Given the description of an element on the screen output the (x, y) to click on. 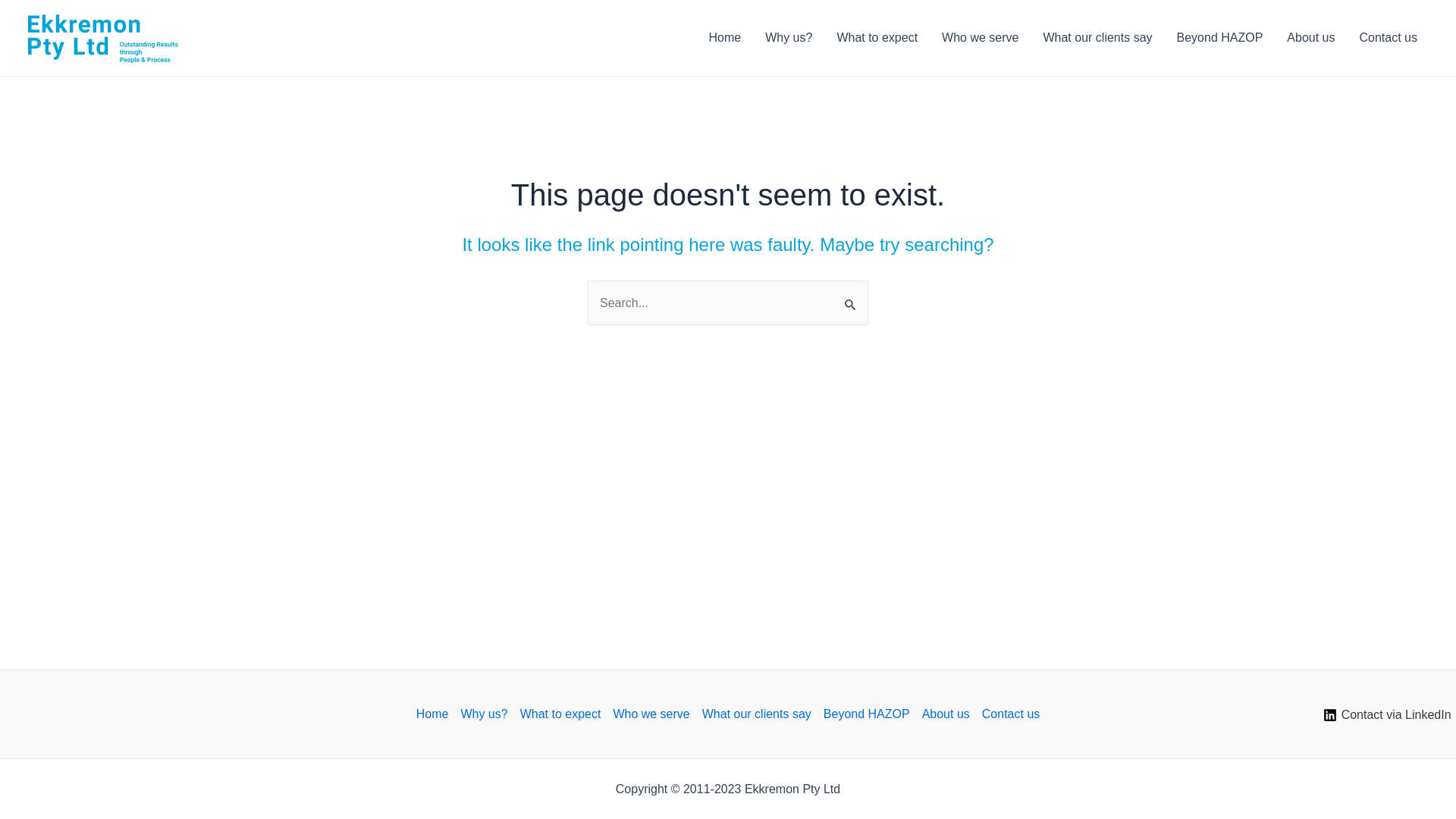
Beyond HAZOP Element type: text (1219, 37)
Home Element type: text (724, 37)
About us Element type: text (945, 714)
Beyond HAZOP Element type: text (866, 714)
Contact us Element type: text (1007, 714)
What to expect Element type: text (876, 37)
What to expect Element type: text (560, 714)
What our clients say Element type: text (756, 714)
What our clients say Element type: text (1097, 37)
About us Element type: text (1310, 37)
Search Element type: text (851, 296)
Who we serve Element type: text (650, 714)
Why us? Element type: text (788, 37)
Who we serve Element type: text (979, 37)
Home Element type: text (435, 714)
Contact us Element type: text (1388, 37)
Why us? Element type: text (483, 714)
